Given the description of an element on the screen output the (x, y) to click on. 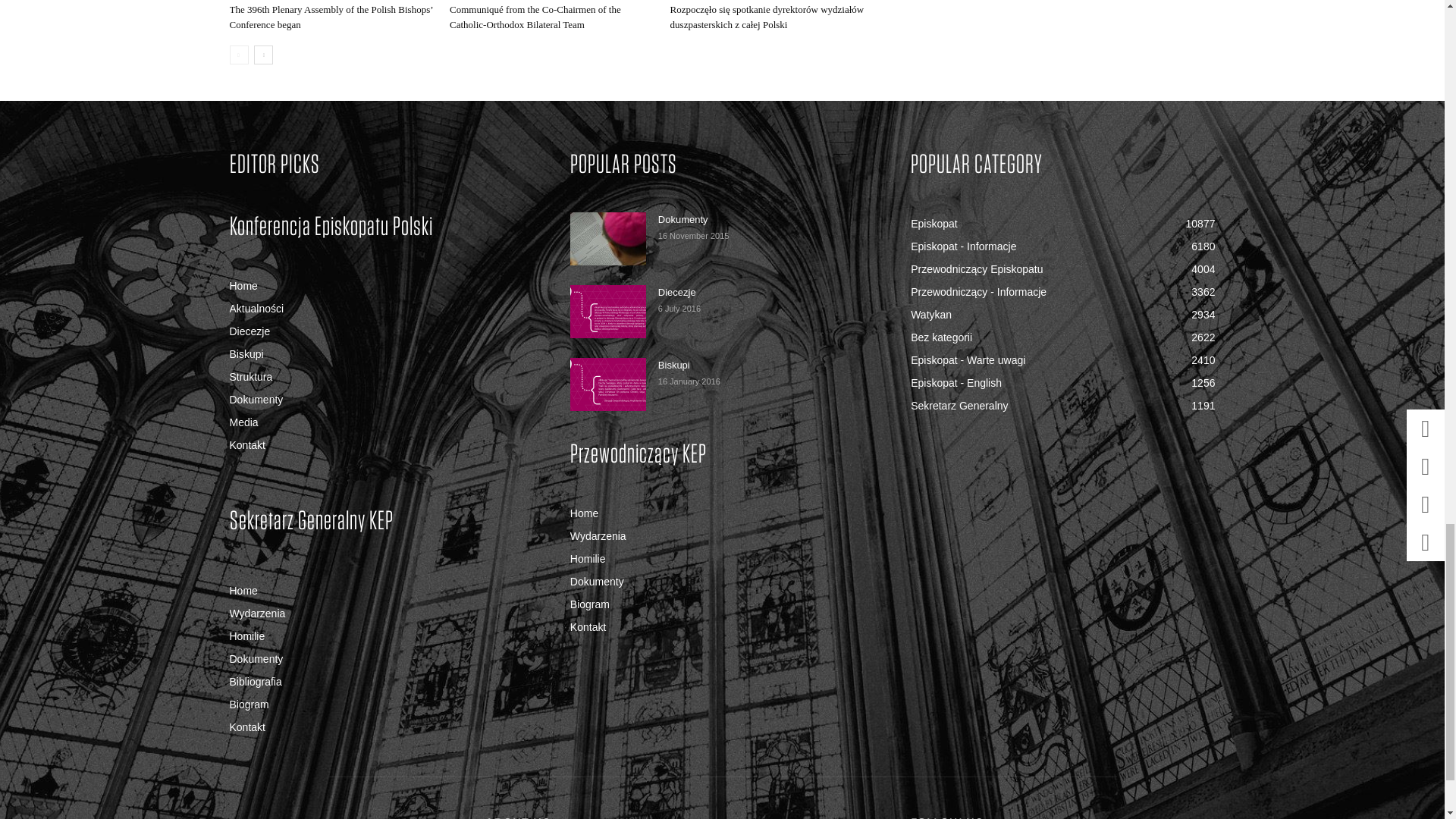
Dokumenty (608, 238)
